Given the description of an element on the screen output the (x, y) to click on. 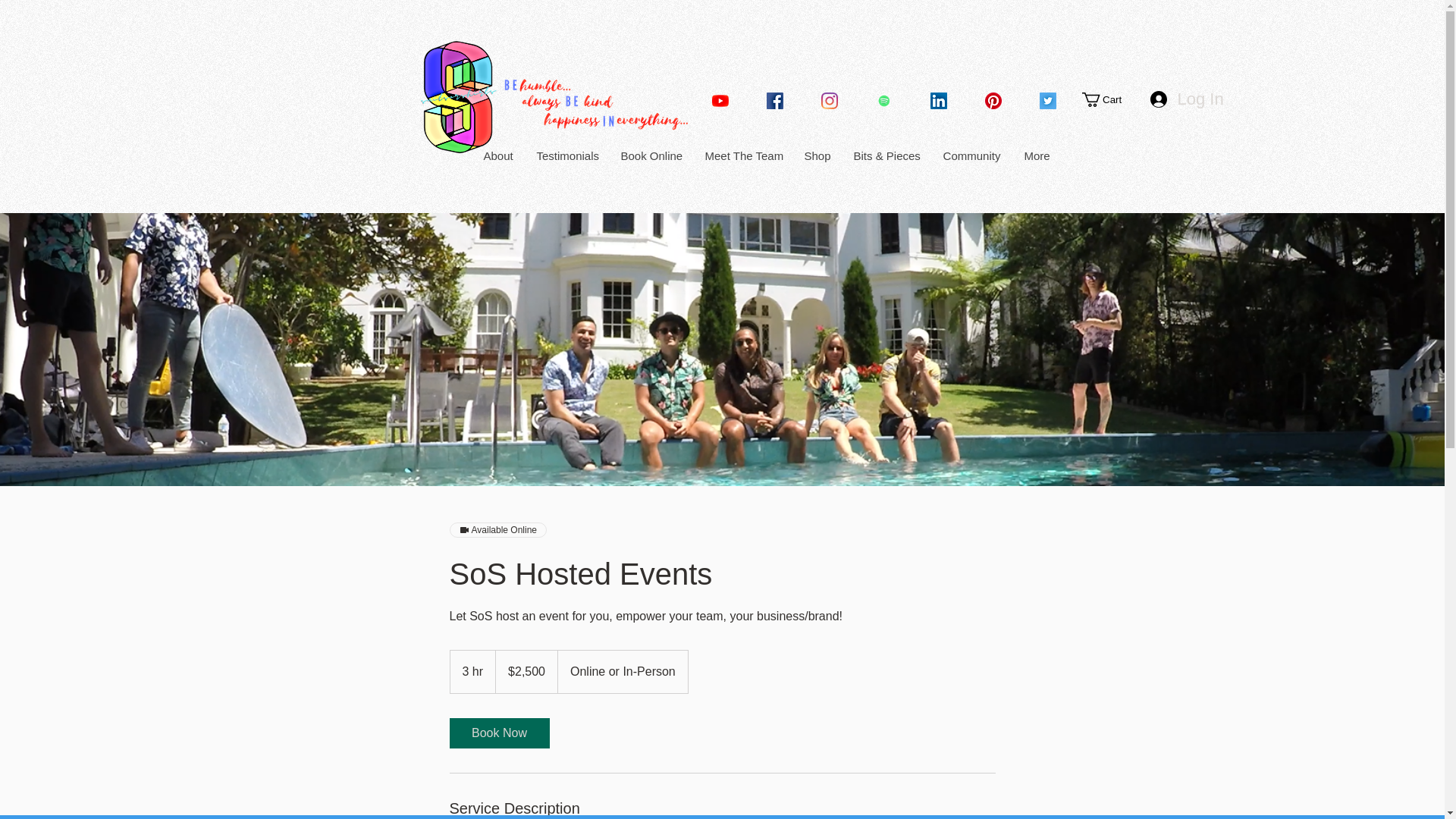
Community (971, 155)
Book Now (498, 733)
Log In (1183, 99)
Meet The Team (742, 155)
Shop (816, 155)
Cart (1109, 99)
Cart (1109, 99)
Book Online (650, 155)
Testimonials (566, 155)
About (497, 155)
